Given the description of an element on the screen output the (x, y) to click on. 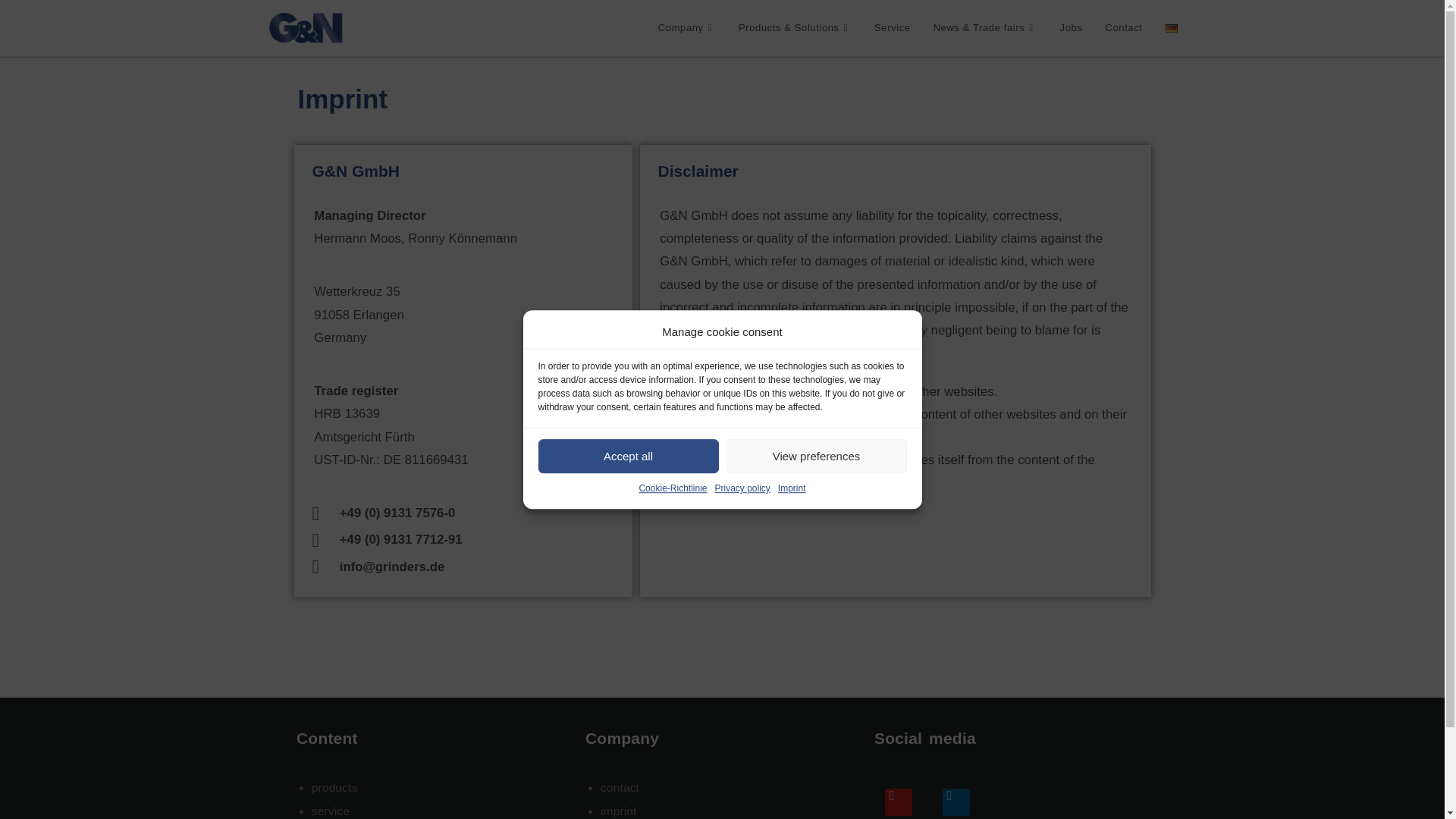
Imprint (791, 488)
Cookie-Richtlinie (672, 488)
Accept all (628, 455)
Company (686, 28)
Privacy policy (742, 488)
View preferences (816, 455)
Service (892, 28)
